Given the description of an element on the screen output the (x, y) to click on. 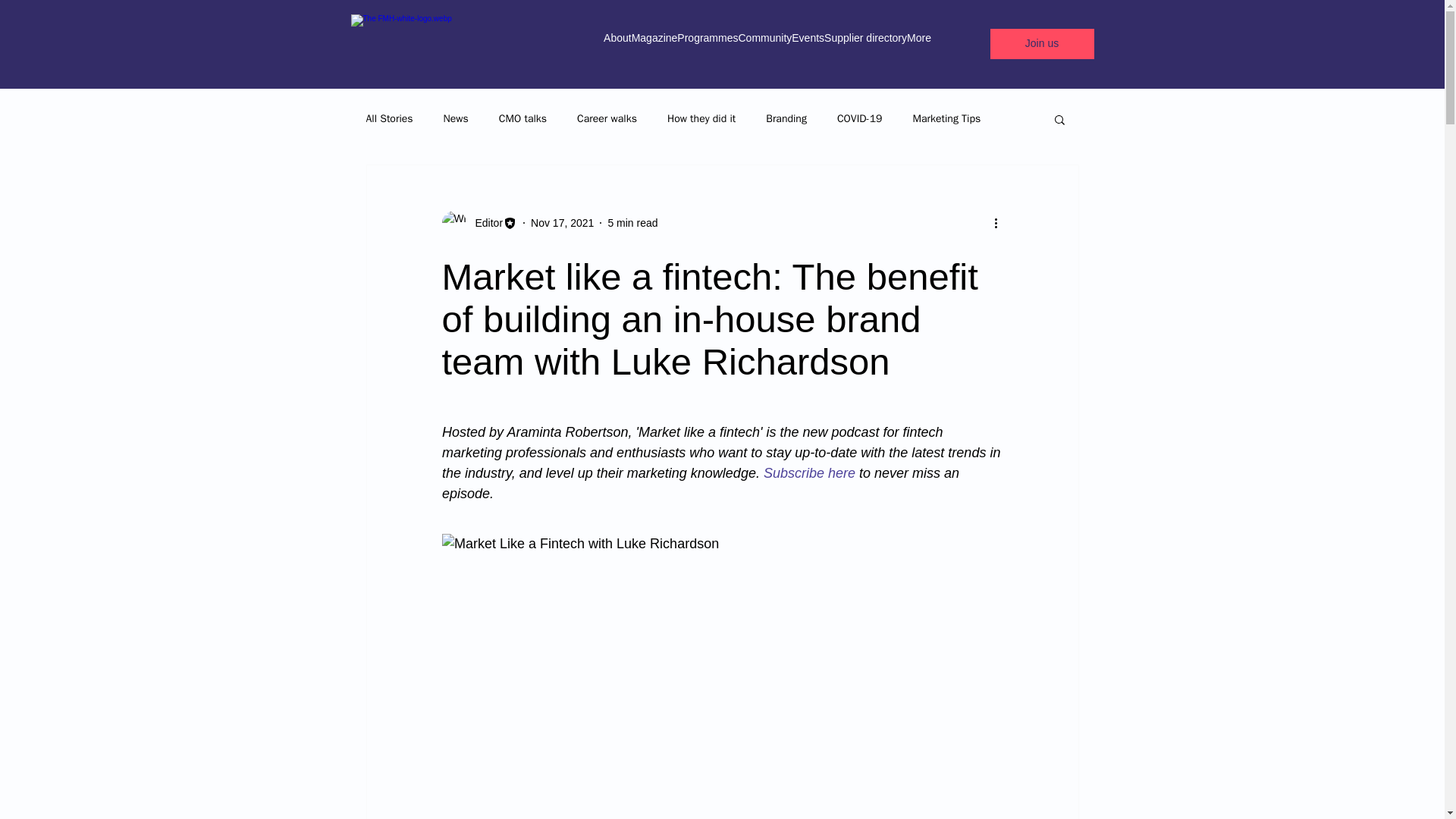
How they did it (700, 119)
Branding (785, 119)
Career walks (606, 119)
Magazine (654, 43)
Events (808, 43)
CMO talks (523, 119)
Marketing Tips (946, 119)
About (617, 43)
Editor (478, 222)
All Stories (388, 119)
